Given the description of an element on the screen output the (x, y) to click on. 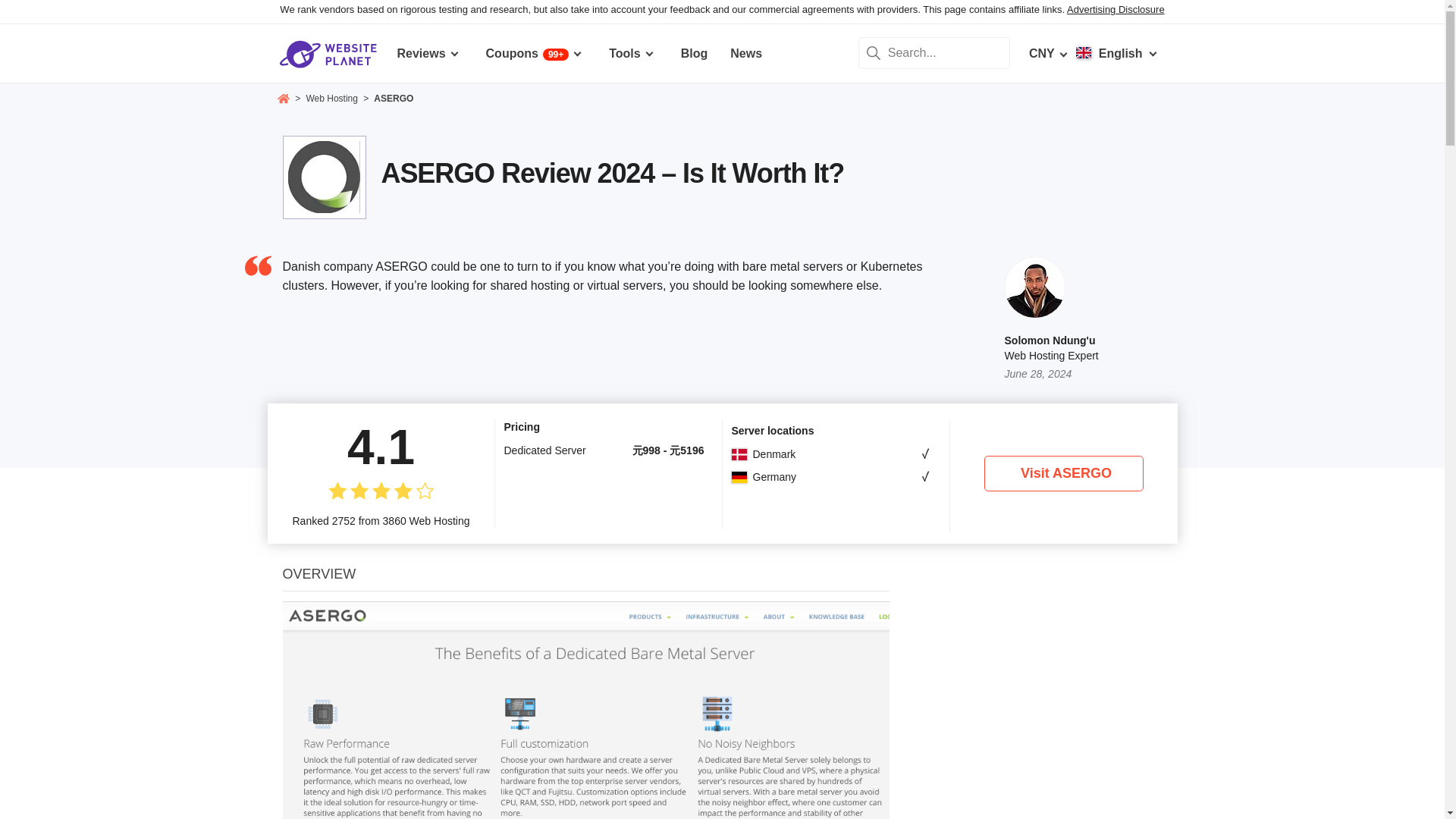
Advertising Disclosure (1115, 9)
Search (873, 52)
Search (873, 52)
